Given the description of an element on the screen output the (x, y) to click on. 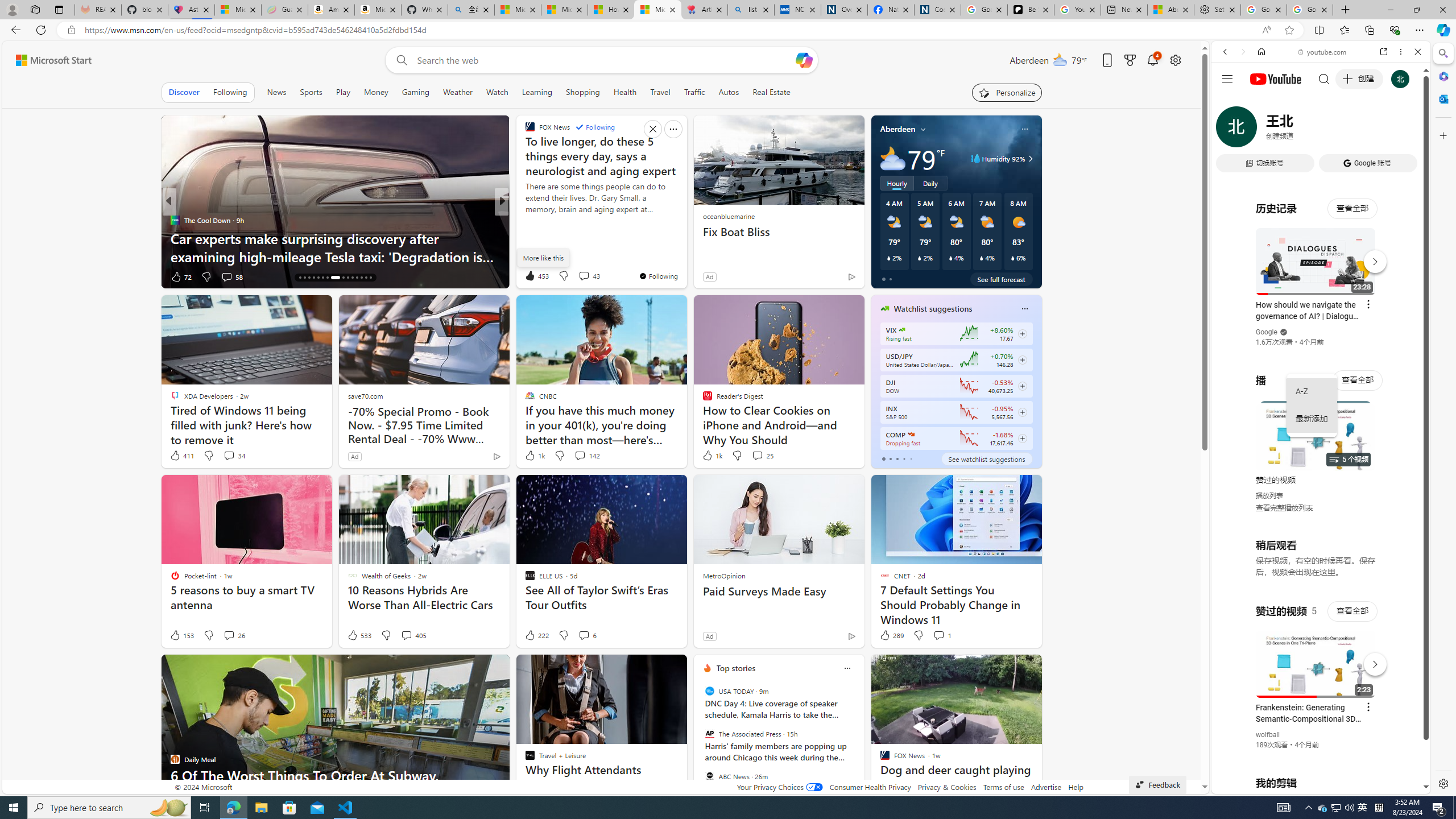
View comments 34 Comment (233, 455)
YouTube (1315, 655)
View comments 3 Comment (222, 276)
A-Z (1311, 391)
tab-2 (897, 458)
